Given the description of an element on the screen output the (x, y) to click on. 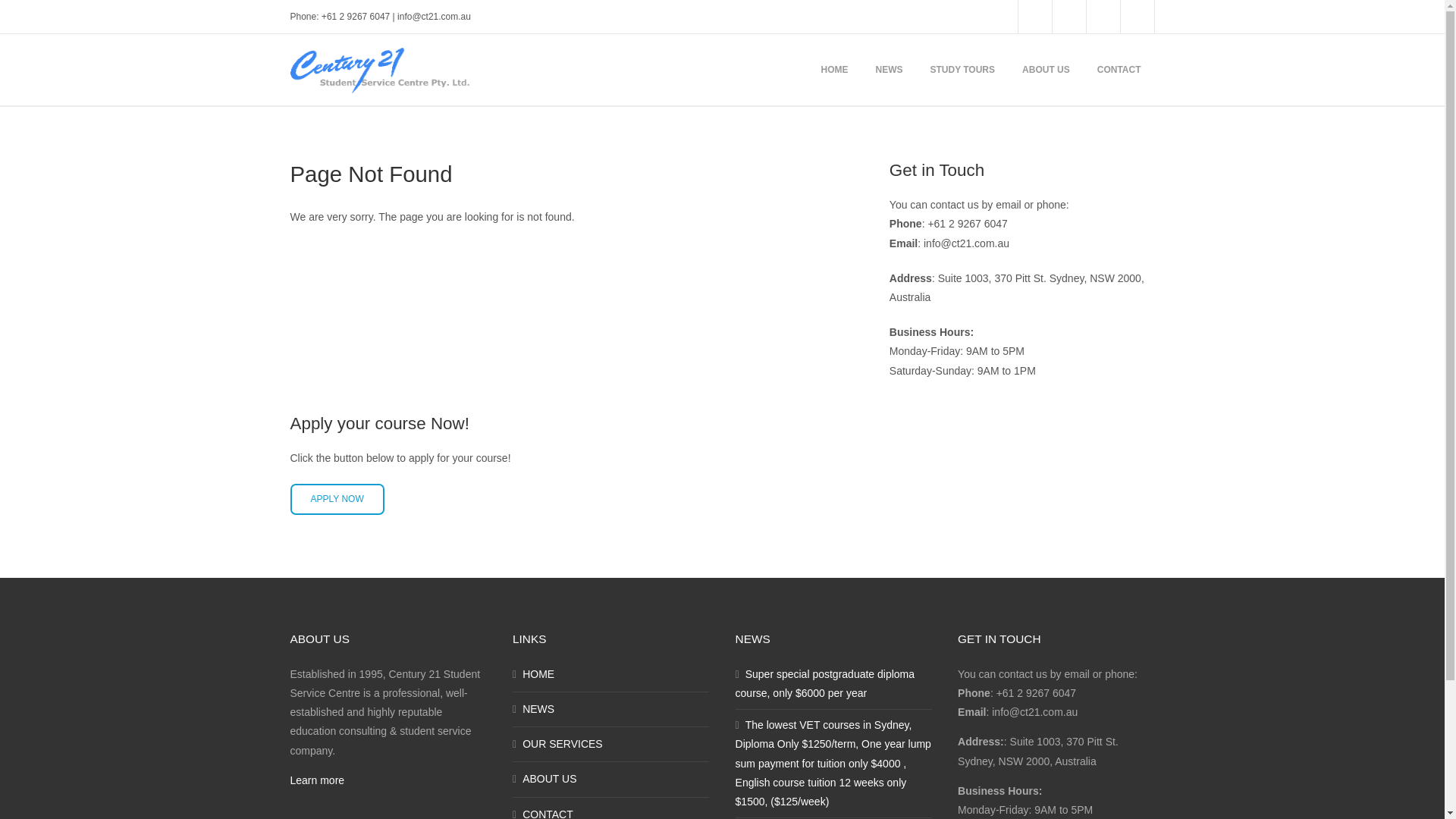
Youtube Element type: hover (1137, 16)
NEWS Element type: text (888, 69)
NEWS Element type: text (610, 708)
Globe Course Search Element type: hover (1034, 16)
STUDY TOURS Element type: text (962, 69)
Facebook Element type: hover (1068, 16)
ABOUT US Element type: text (610, 778)
APPLY NOW Element type: text (336, 498)
Learn more Element type: text (316, 780)
CONTACT Element type: text (1118, 69)
HOME Element type: text (833, 69)
ABOUT US Element type: text (1045, 69)
OUR SERVICES Element type: text (610, 743)
Twitter Element type: hover (1102, 16)
HOME Element type: text (610, 674)
